Given the description of an element on the screen output the (x, y) to click on. 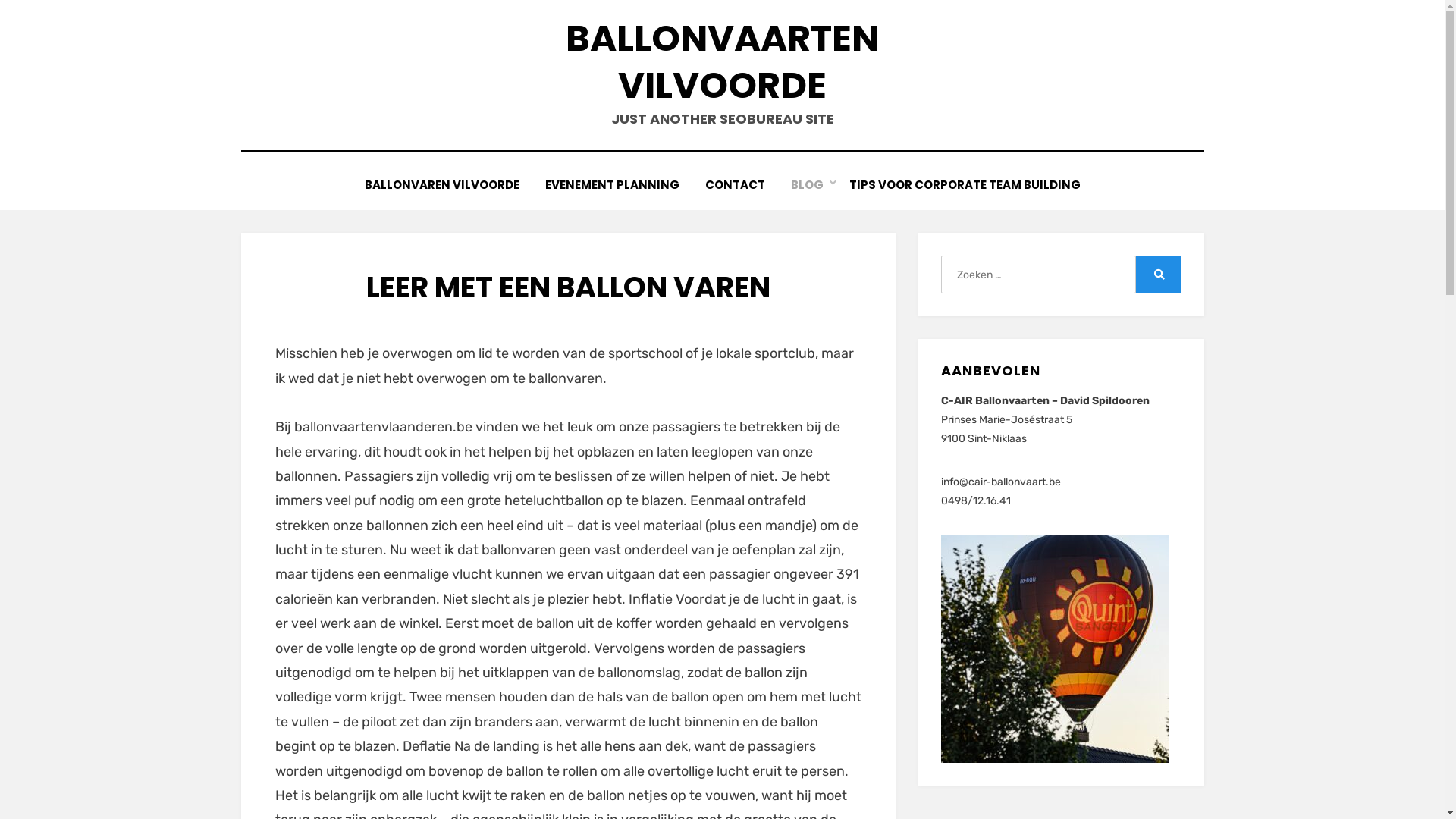
BLOG Element type: text (807, 184)
BALLONVAARTEN VILVOORDE Element type: text (721, 61)
Zoeken Element type: text (1158, 274)
CONTACT Element type: text (734, 184)
EVENEMENT PLANNING Element type: text (612, 184)
Zoeken naar: Element type: hover (1038, 274)
TIPS VOOR CORPORATE TEAM BUILDING Element type: text (963, 184)
BALLONVAREN VILVOORDE Element type: text (441, 184)
0498/12.16.41 Element type: text (975, 500)
info@cair-ballonvaart.be Element type: text (1000, 481)
